Given the description of an element on the screen output the (x, y) to click on. 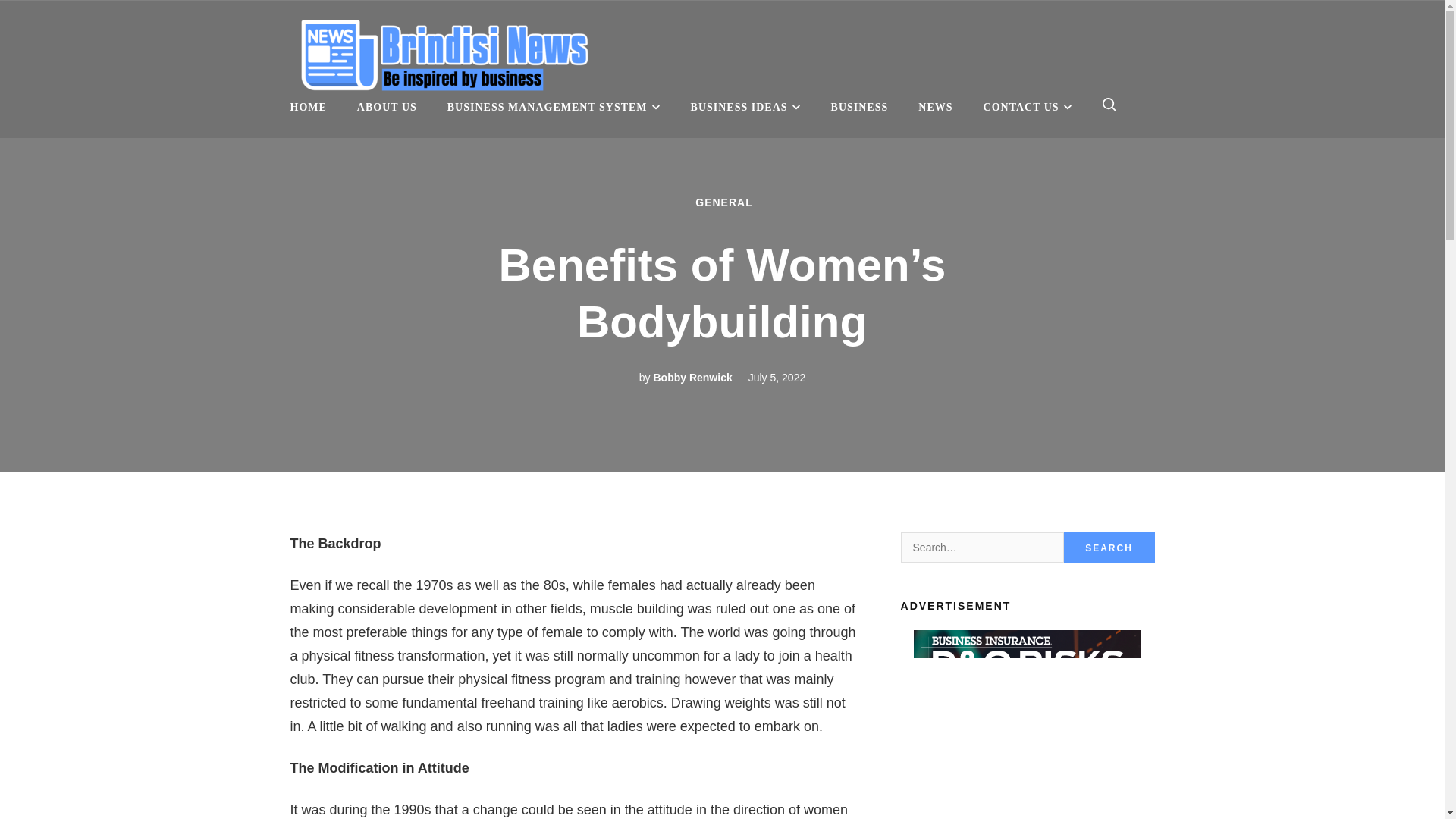
HOME (307, 107)
NEWS (935, 107)
ABOUT US (386, 107)
CONTACT US (1027, 107)
Search (1108, 547)
GENERAL (723, 202)
Bobby Renwick (692, 377)
BUSINESS IDEAS (745, 107)
July 5, 2022 (777, 377)
Search (1108, 547)
BUSINESS MANAGEMENT SYSTEM (553, 107)
BUSINESS (859, 107)
